Given the description of an element on the screen output the (x, y) to click on. 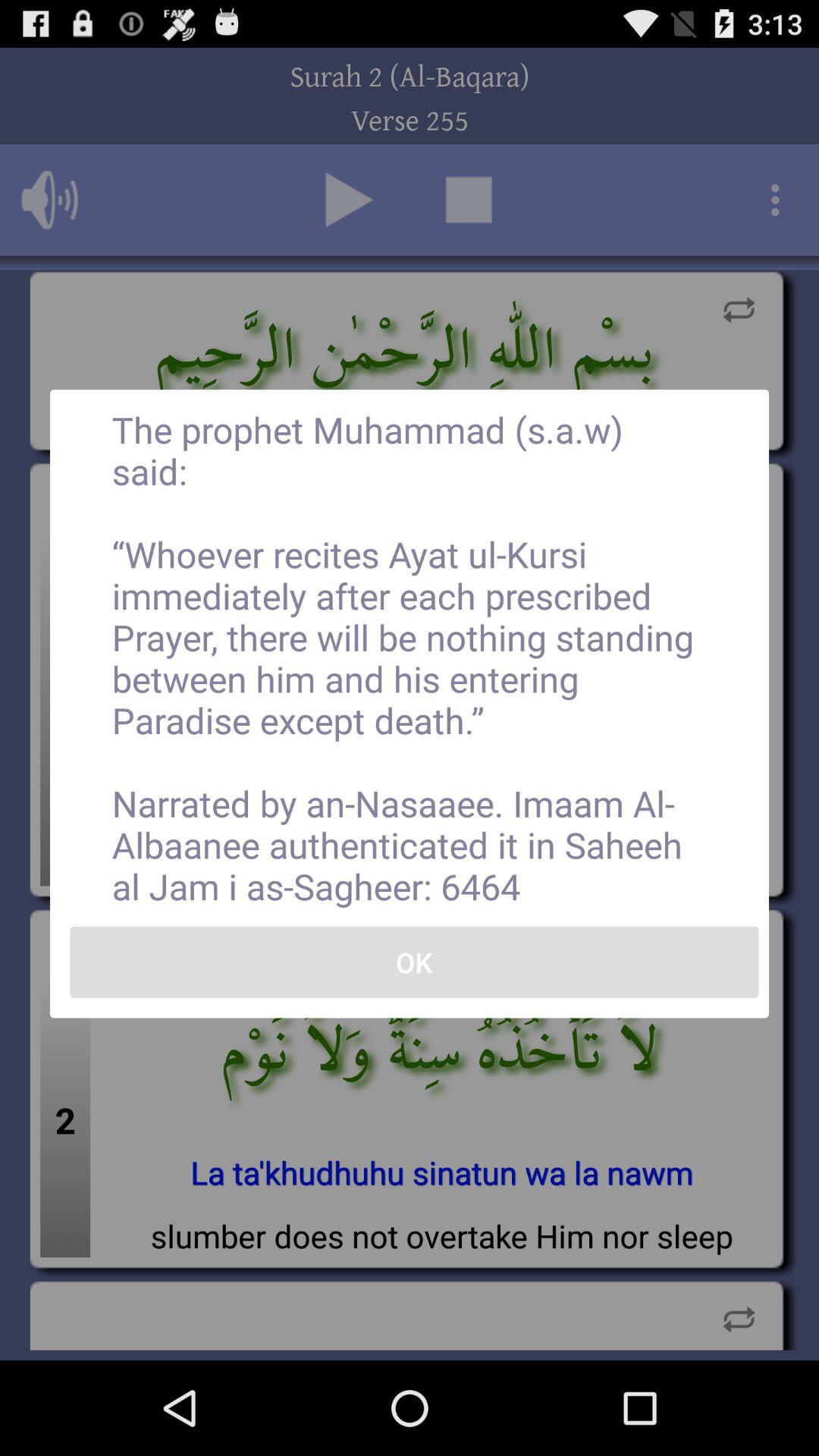
flip until ok (413, 962)
